Given the description of an element on the screen output the (x, y) to click on. 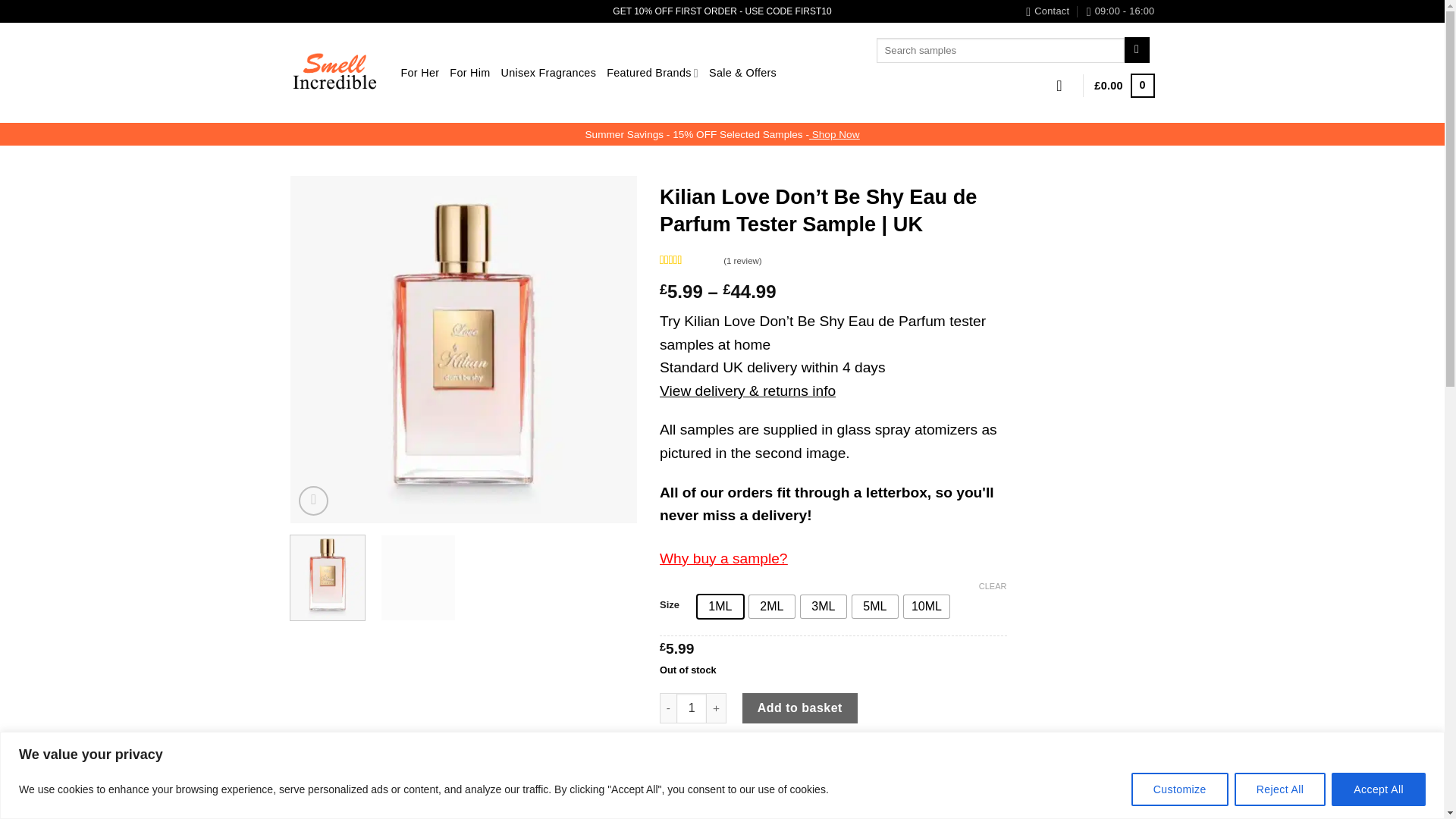
For Him (469, 72)
5ML (874, 606)
Basket (1124, 85)
3ML (822, 606)
Contact (1047, 11)
For Her (419, 72)
Accept All (1378, 788)
10ML (926, 606)
Unisex Fragrances (547, 72)
Zoom (313, 500)
Smell Incredible (333, 72)
1ML (719, 606)
09:00 - 16:00 (1120, 11)
Featured Brands (652, 72)
Reject All (1280, 788)
